Given the description of an element on the screen output the (x, y) to click on. 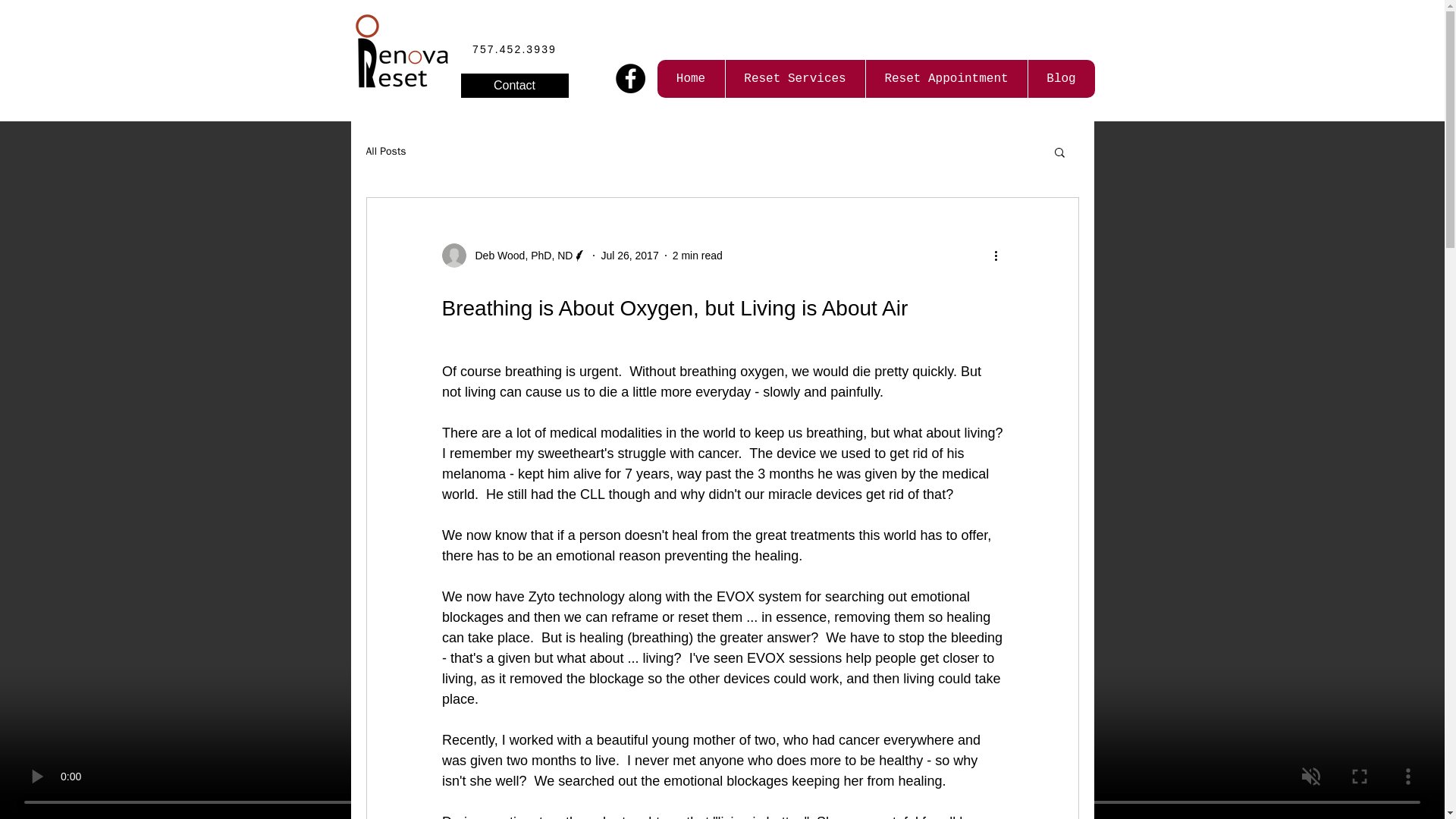
Contact (515, 85)
757.452.3939 (513, 49)
All Posts (385, 151)
2 min read (697, 254)
Jul 26, 2017 (628, 254)
Blog (1060, 78)
Deb Wood, PhD, ND (518, 254)
Reset Appointment (945, 78)
Reset Services (794, 78)
Home (689, 78)
